Given the description of an element on the screen output the (x, y) to click on. 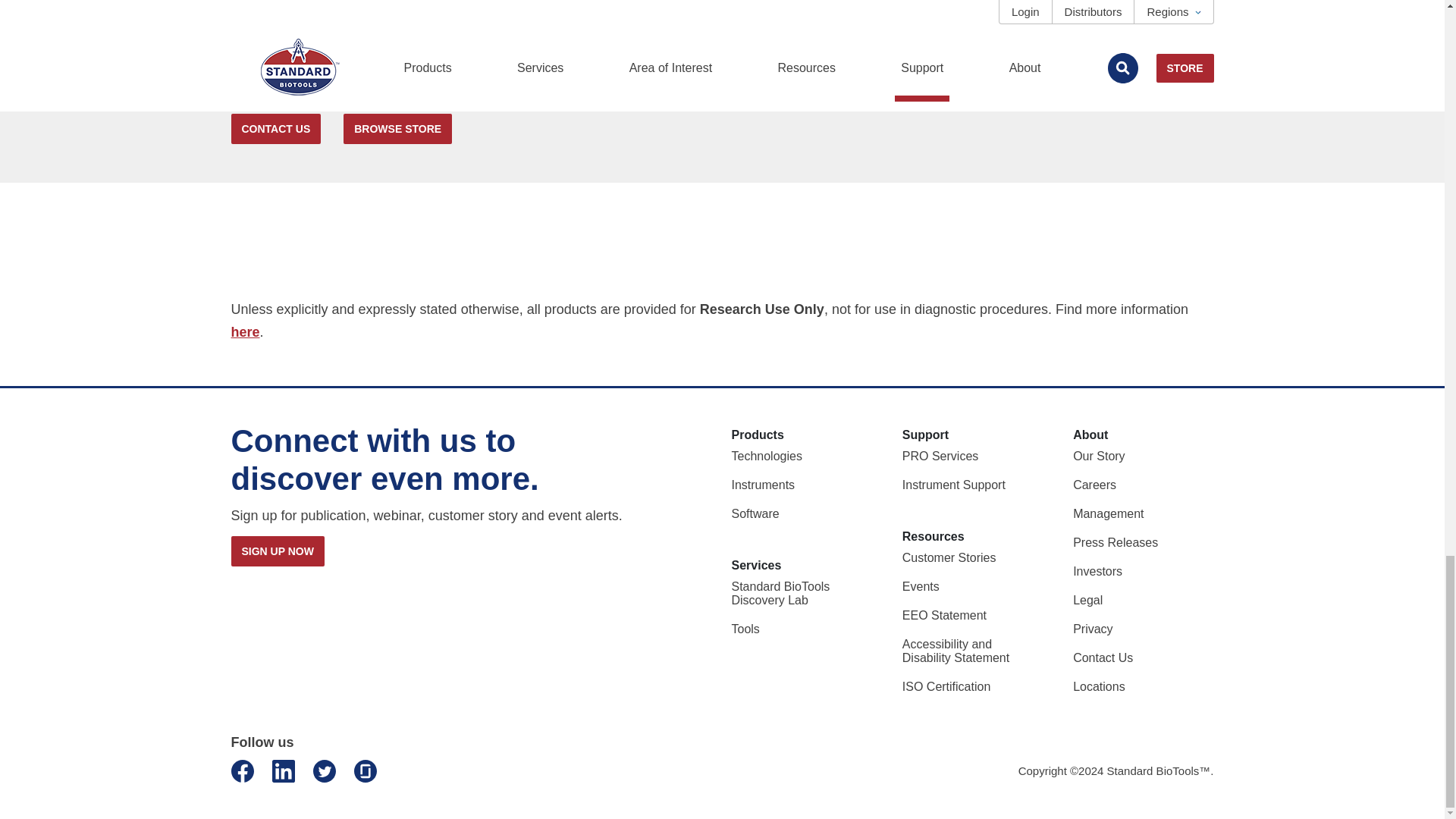
Services (755, 564)
Standard BioTools Discovery Lab (779, 592)
ISO Certification (946, 686)
